Given the description of an element on the screen output the (x, y) to click on. 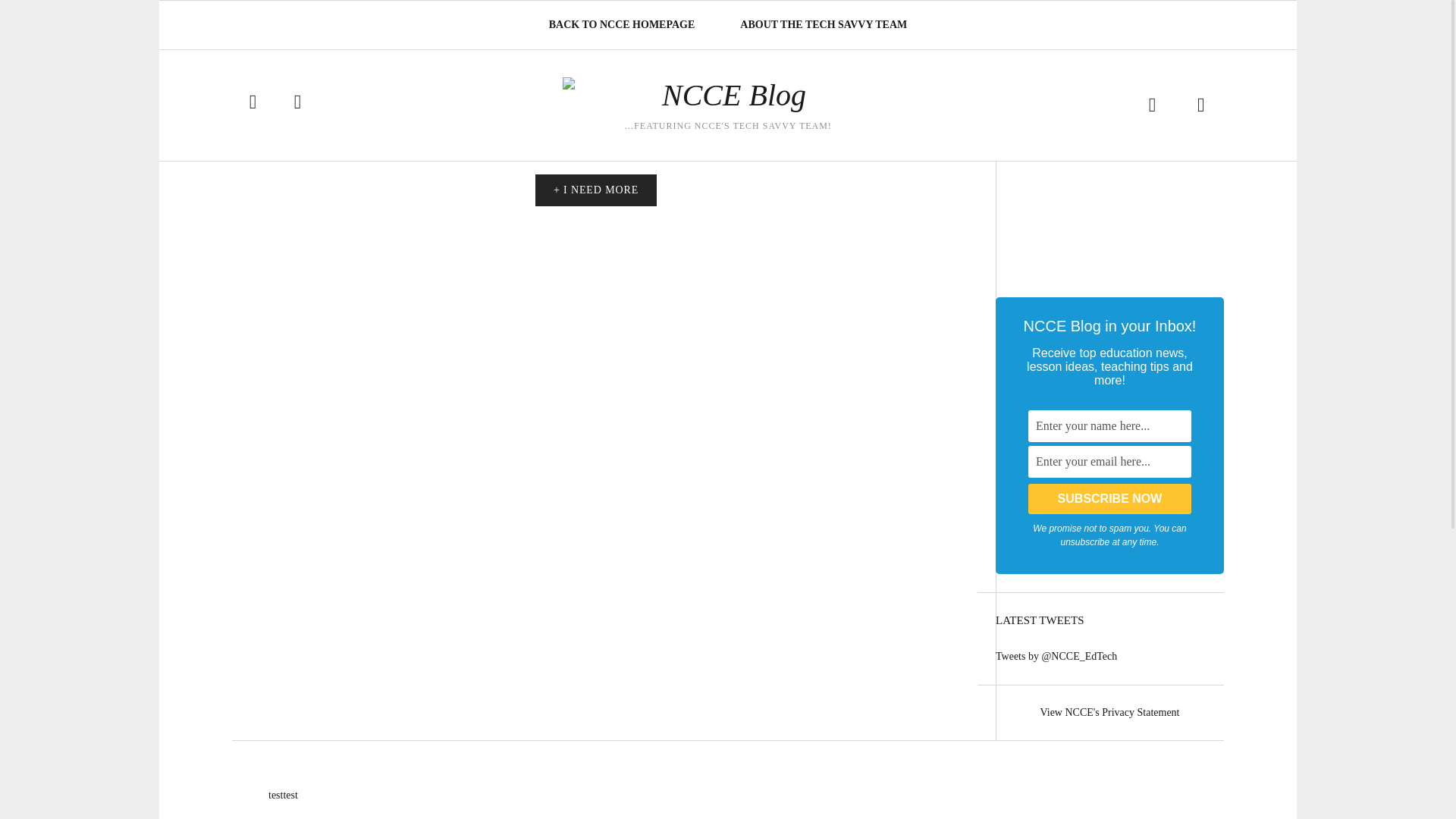
Subscribe Now (1109, 499)
